Given the description of an element on the screen output the (x, y) to click on. 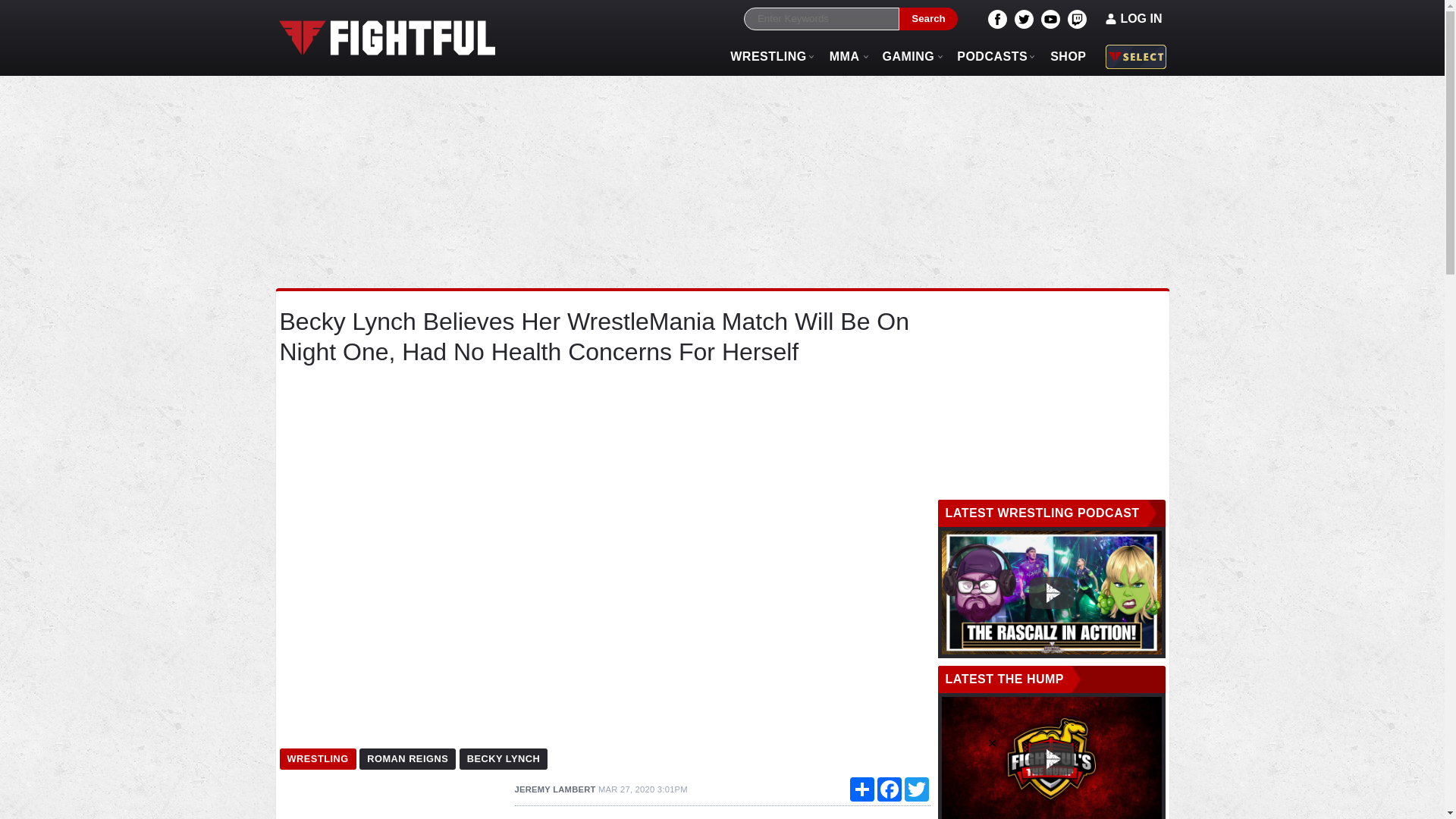
WRESTLING (768, 56)
GAMING (907, 56)
BECKY LYNCH (504, 759)
ROMAN REIGNS (407, 759)
Search (928, 19)
SHOP (1068, 56)
WRESTLING (317, 759)
MMA (844, 56)
PODCASTS (991, 56)
LOG IN (1134, 18)
